Given the description of an element on the screen output the (x, y) to click on. 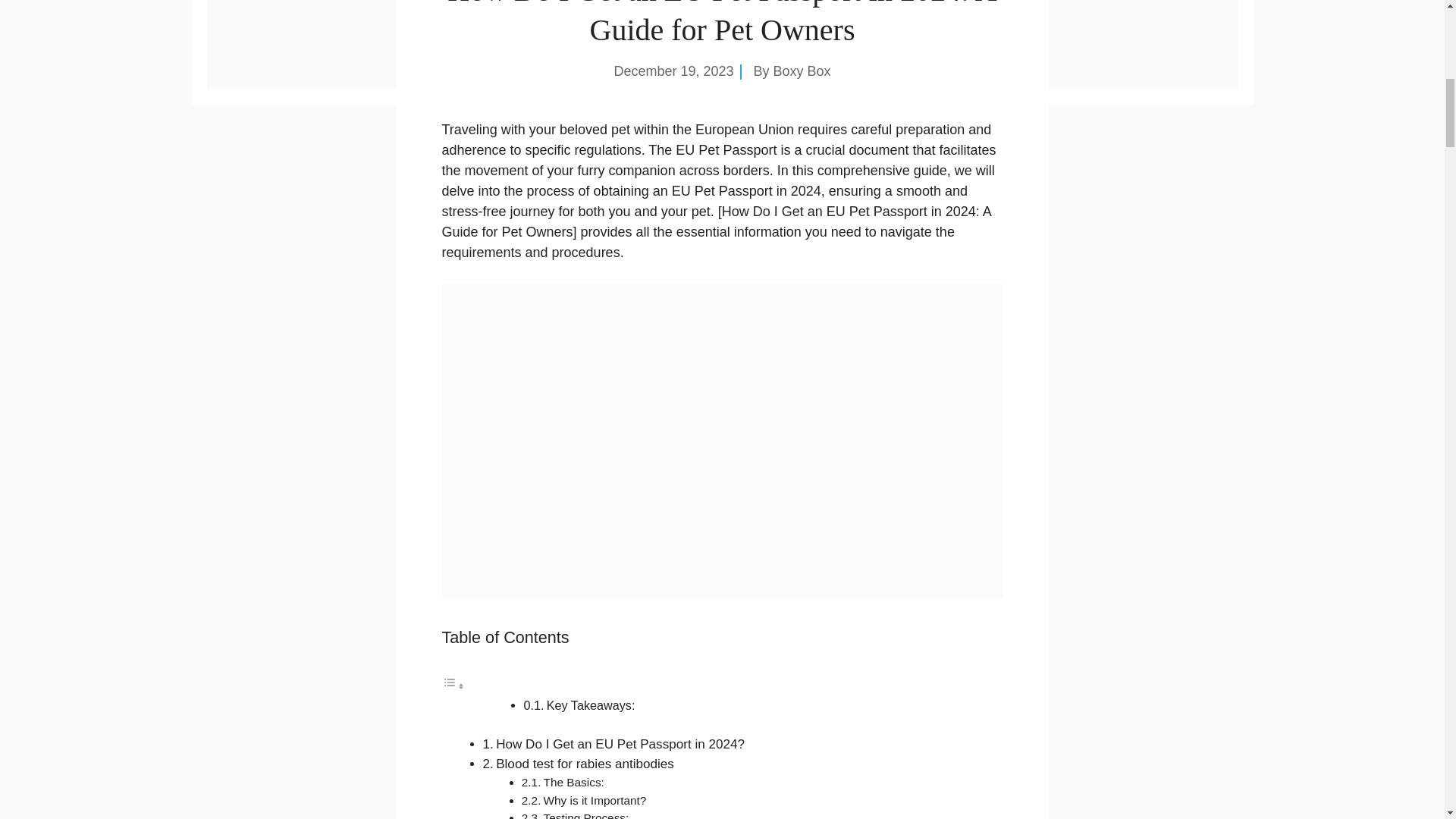
Why is it Important? (594, 799)
Testing Process: (585, 815)
Boxy Box (802, 70)
How Do I Get an EU Pet Passport in 2024? (620, 744)
Blood test for rabies antibodies (585, 763)
The Basics: (573, 781)
Blood test for rabies antibodies (585, 763)
How Do I Get an EU Pet Passport in 2024? (620, 744)
Key Takeaways: (590, 704)
Why is it Important? (594, 799)
The Basics: (573, 781)
Key Takeaways: (590, 704)
Testing Process: (585, 815)
